Given the description of an element on the screen output the (x, y) to click on. 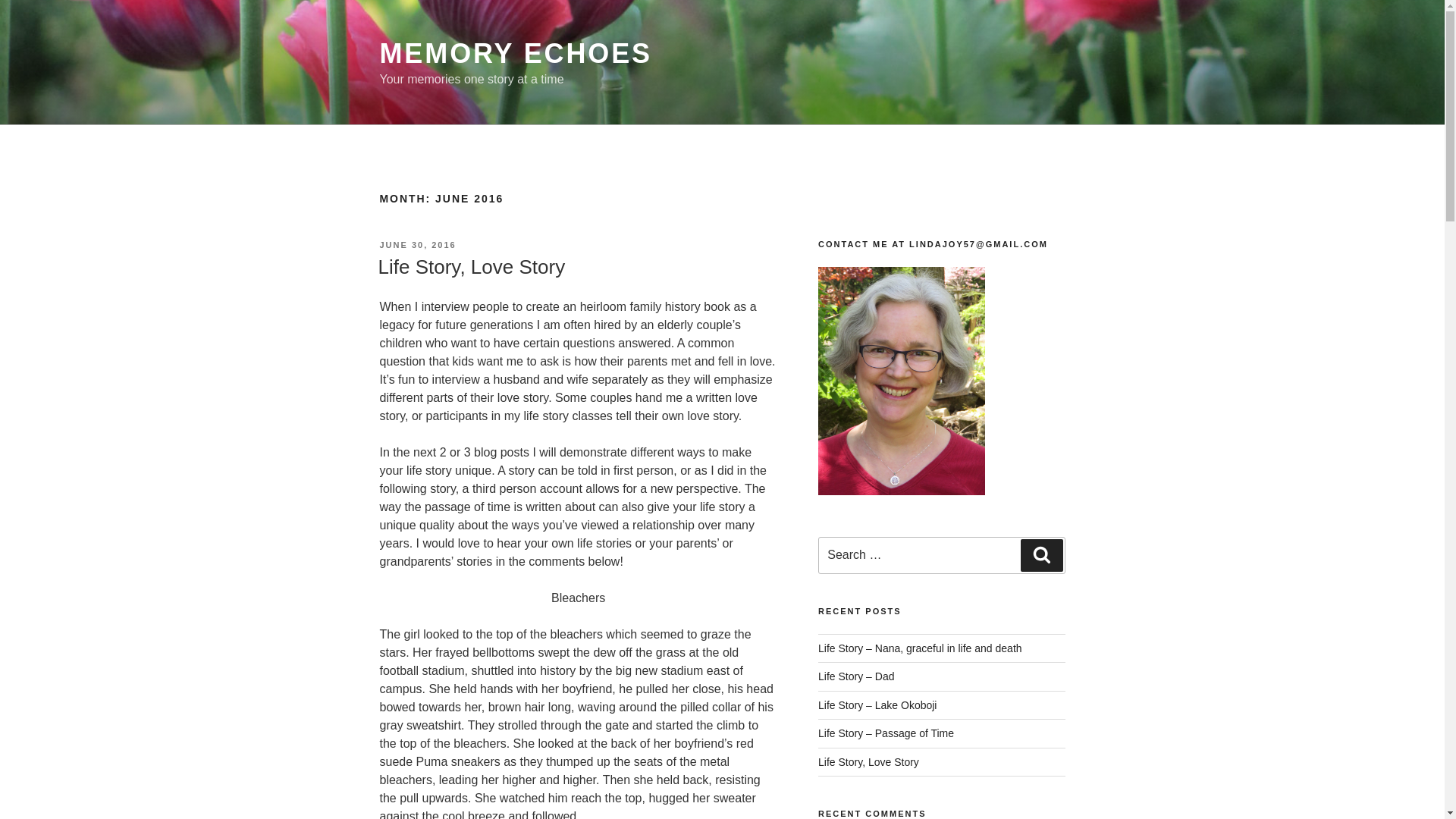
Life Story, Love Story (470, 266)
Life Story, Love Story (868, 761)
Search (1041, 554)
MEMORY ECHOES (515, 52)
JUNE 30, 2016 (416, 244)
